Given the description of an element on the screen output the (x, y) to click on. 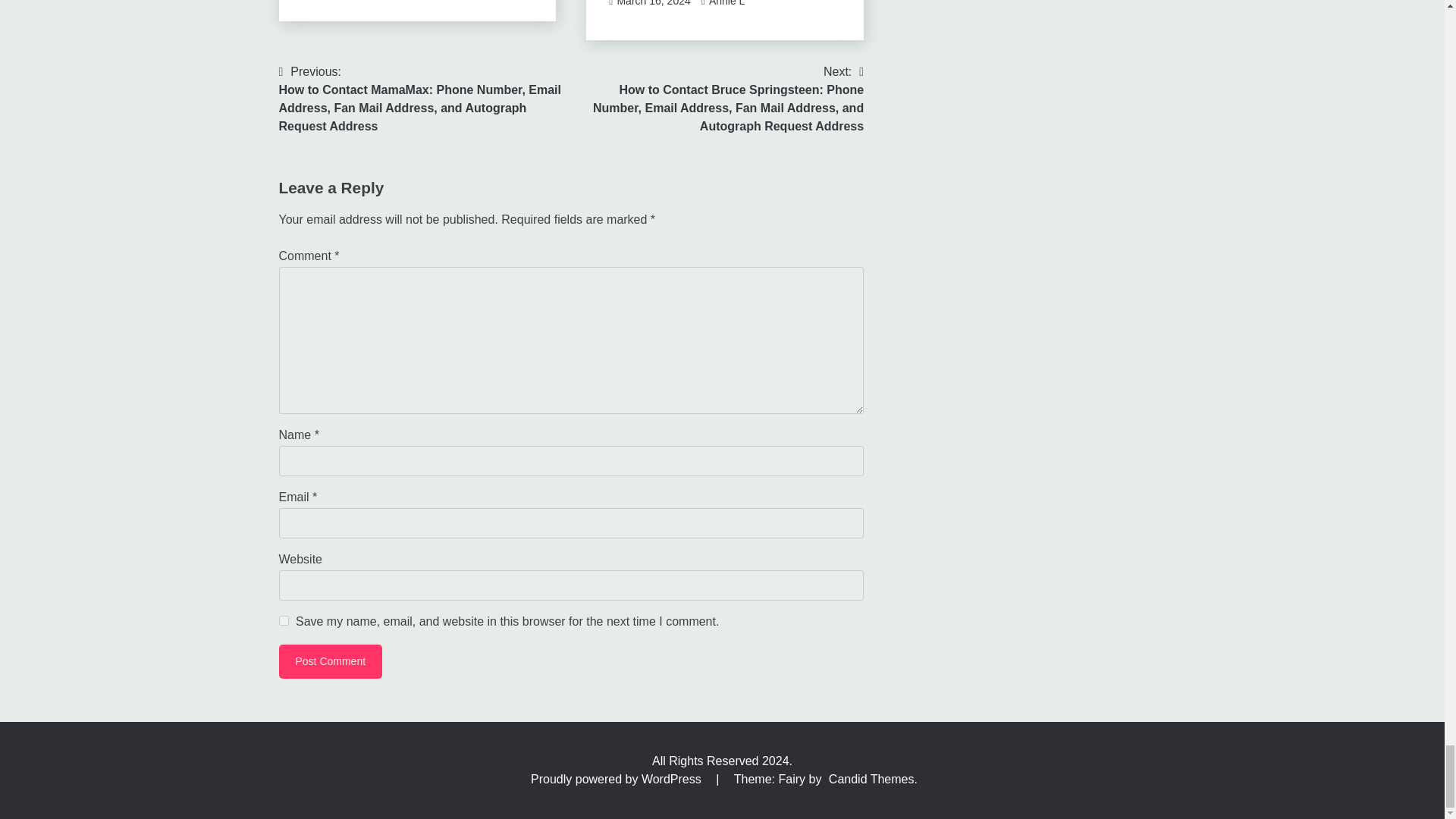
yes (283, 620)
Post Comment (330, 661)
Annie L (726, 3)
Post Comment (330, 661)
March 16, 2024 (652, 3)
